Given the description of an element on the screen output the (x, y) to click on. 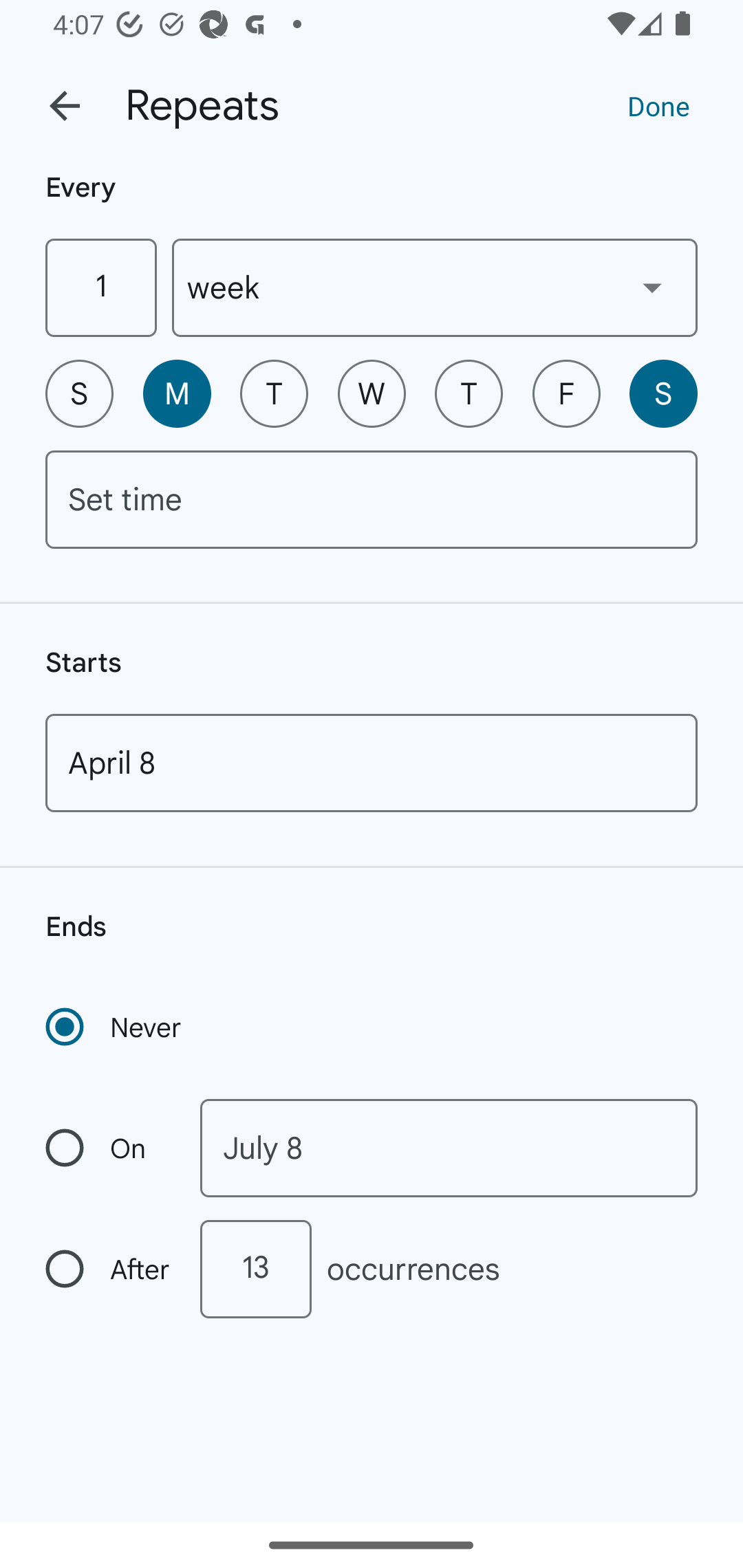
Back (64, 105)
Done (658, 105)
1 (100, 287)
week (434, 287)
Show dropdown menu (652, 286)
S Sunday (79, 393)
M Monday, selected (177, 393)
T Tuesday (273, 393)
W Wednesday (371, 393)
T Thursday (468, 393)
F Friday (566, 393)
S Saturday, selected (663, 393)
Set time (371, 499)
April 8 (371, 762)
Never Recurrence never ends (115, 1026)
July 8 (448, 1148)
On Recurrence ends on a specific date (109, 1148)
13 (255, 1268)
